Given the description of an element on the screen output the (x, y) to click on. 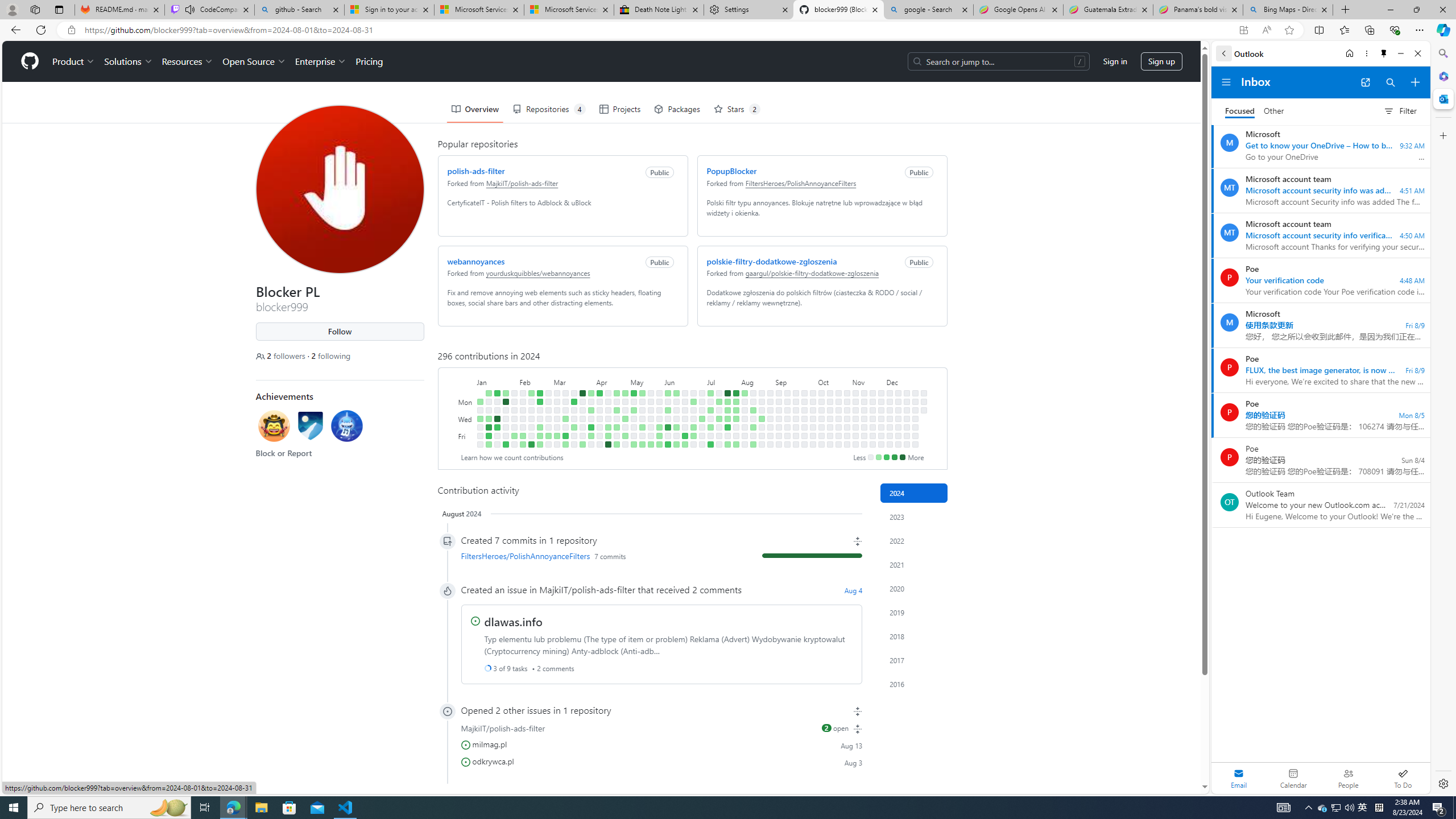
1 contribution on August 3rd. (735, 444)
1 contribution on February 2nd. (513, 435)
yourduskquibbles/webannoyances (537, 272)
No contributions on August 7th. (744, 418)
No contributions on June 29th. (693, 444)
No contributions on August 9th. (744, 435)
2 contributions on May 30th. (658, 427)
View blocker999's full-sized avatar (338, 188)
No contributions on June 3rd. (667, 401)
No contributions on December 21st. (906, 444)
No contributions on September 20th. (795, 435)
No contributions on August 26th. (770, 401)
Block or Report (282, 452)
